Given the description of an element on the screen output the (x, y) to click on. 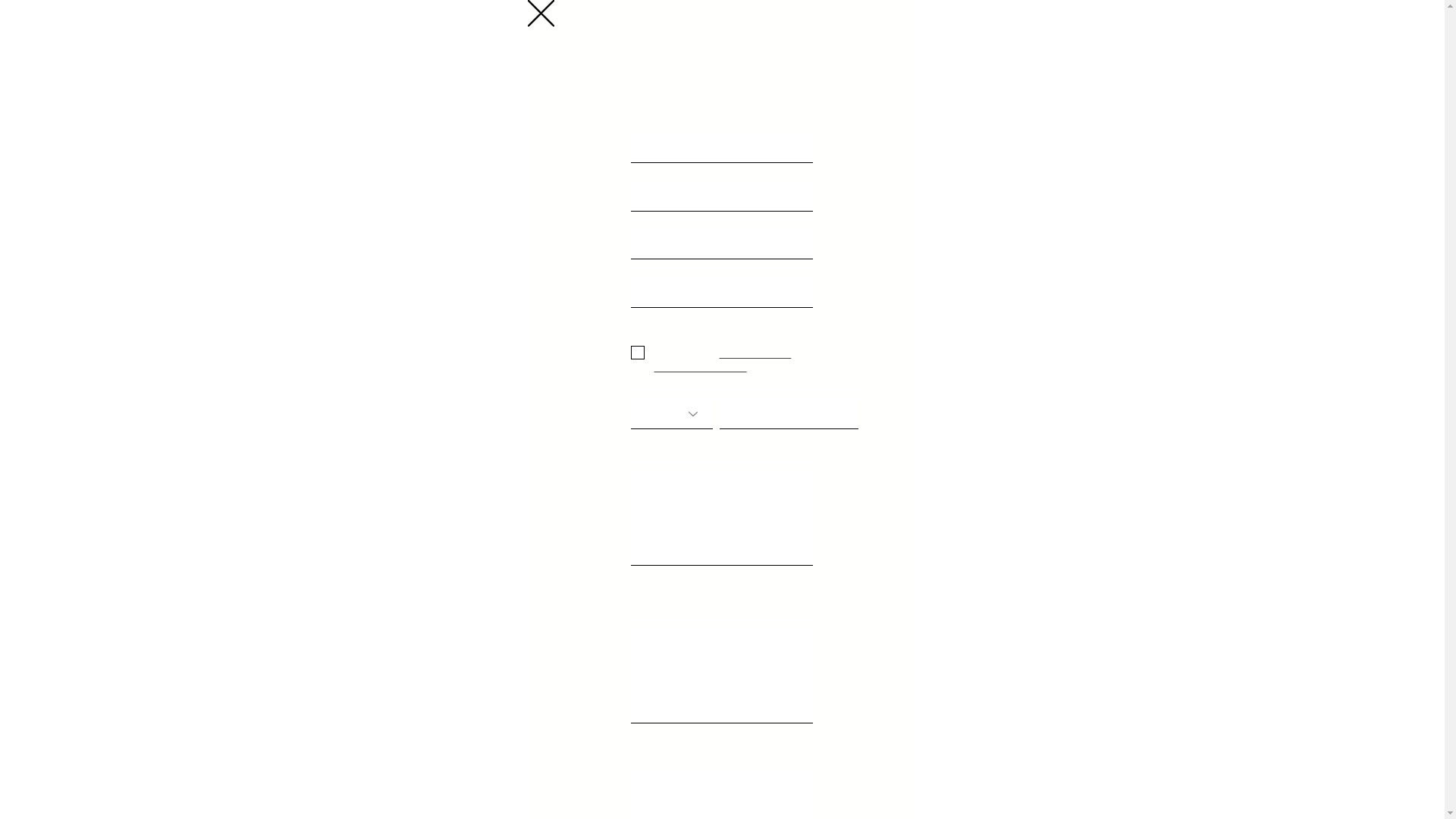
(View terms and conditions) Element type: text (721, 359)
Back to site Element type: hover (540, 13)
